Given the description of an element on the screen output the (x, y) to click on. 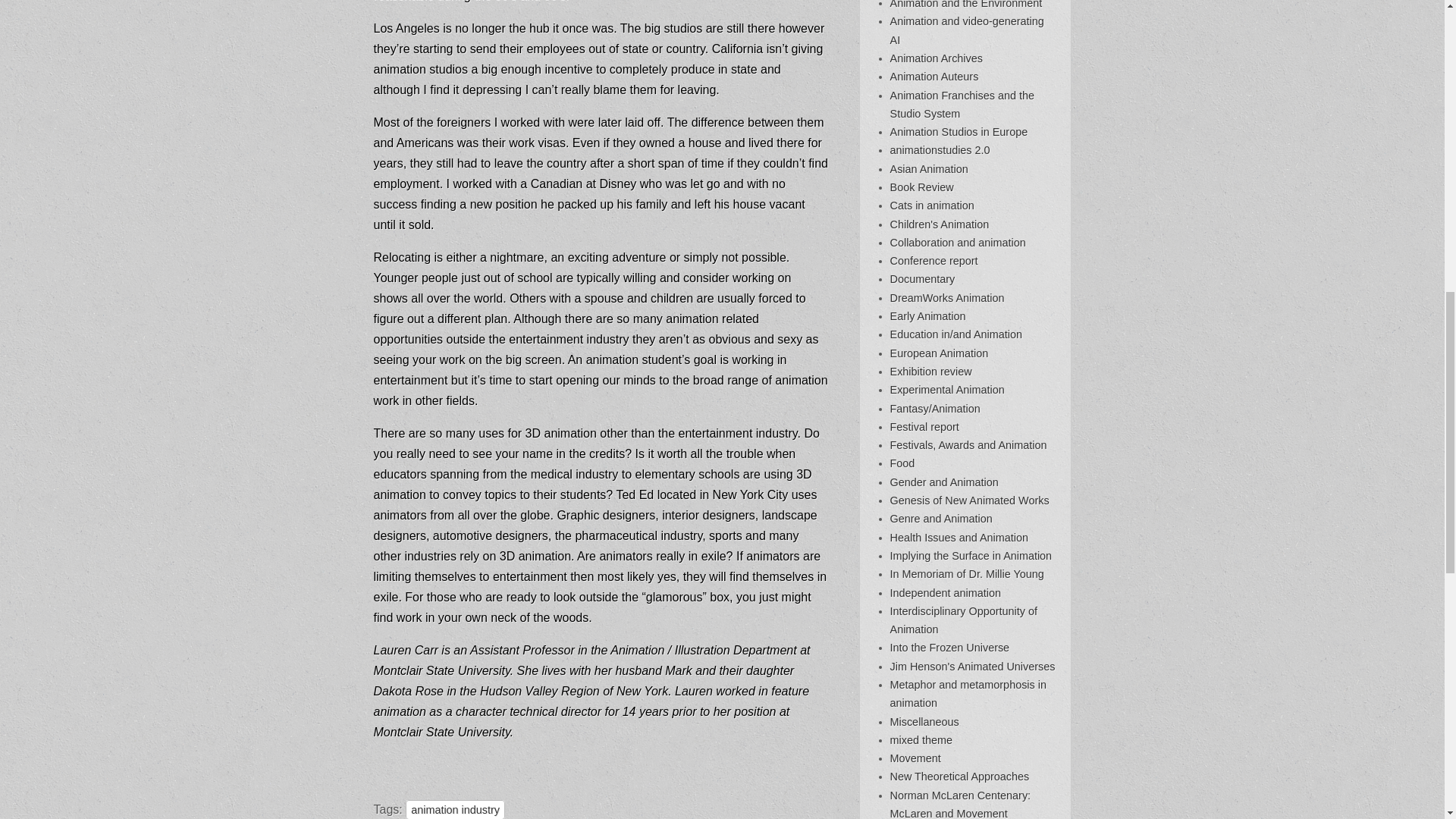
animation industry (455, 809)
